Given the description of an element on the screen output the (x, y) to click on. 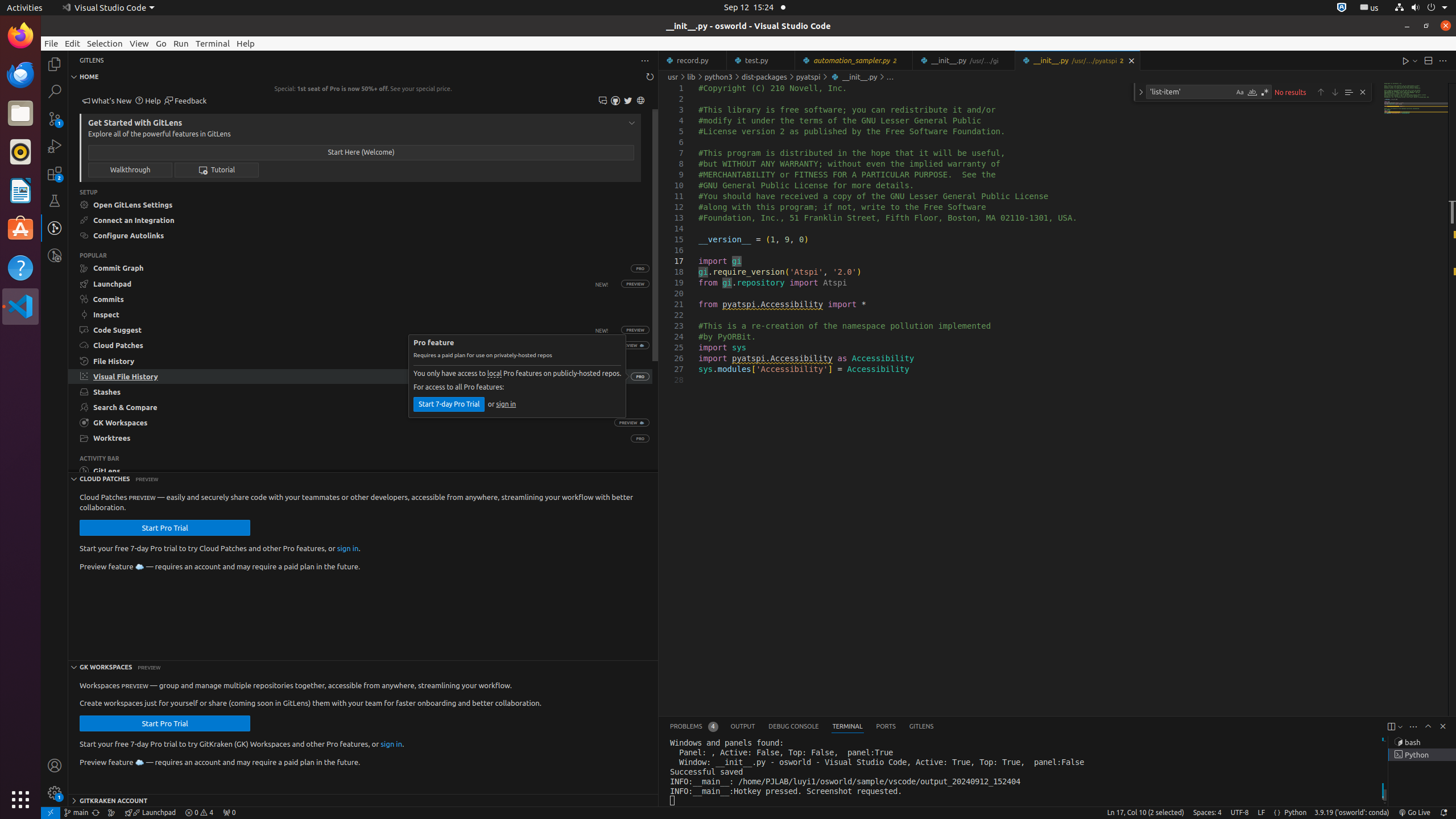
remote Element type: push-button (50, 812)
Explorer (Ctrl+Shift+E) Element type: page-tab (54, 63)
LF Element type: push-button (1261, 812)
Edit Element type: push-button (72, 43)
